Given the description of an element on the screen output the (x, y) to click on. 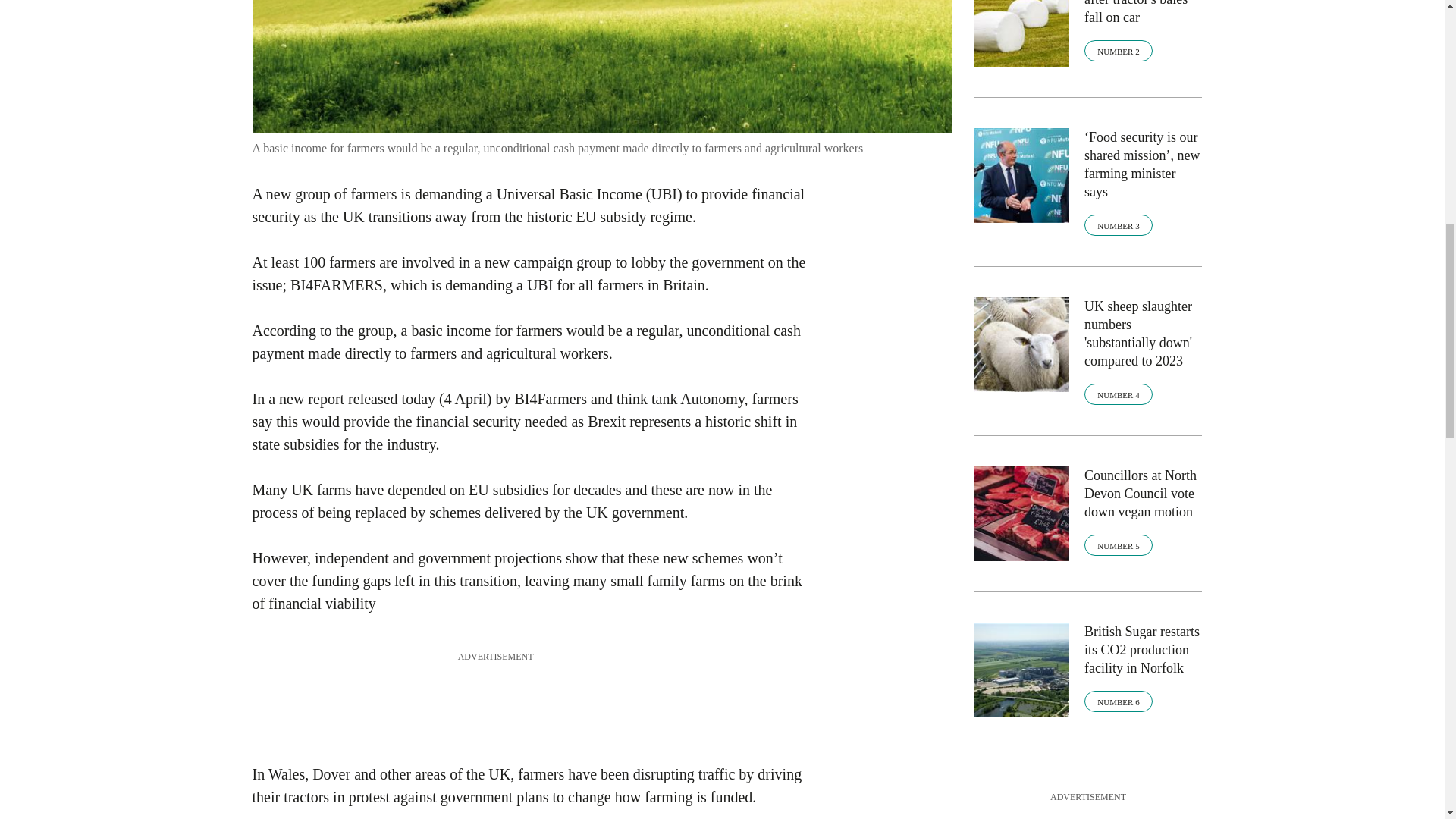
3rd party ad content (1088, 811)
3rd party ad content (527, 698)
